Given the description of an element on the screen output the (x, y) to click on. 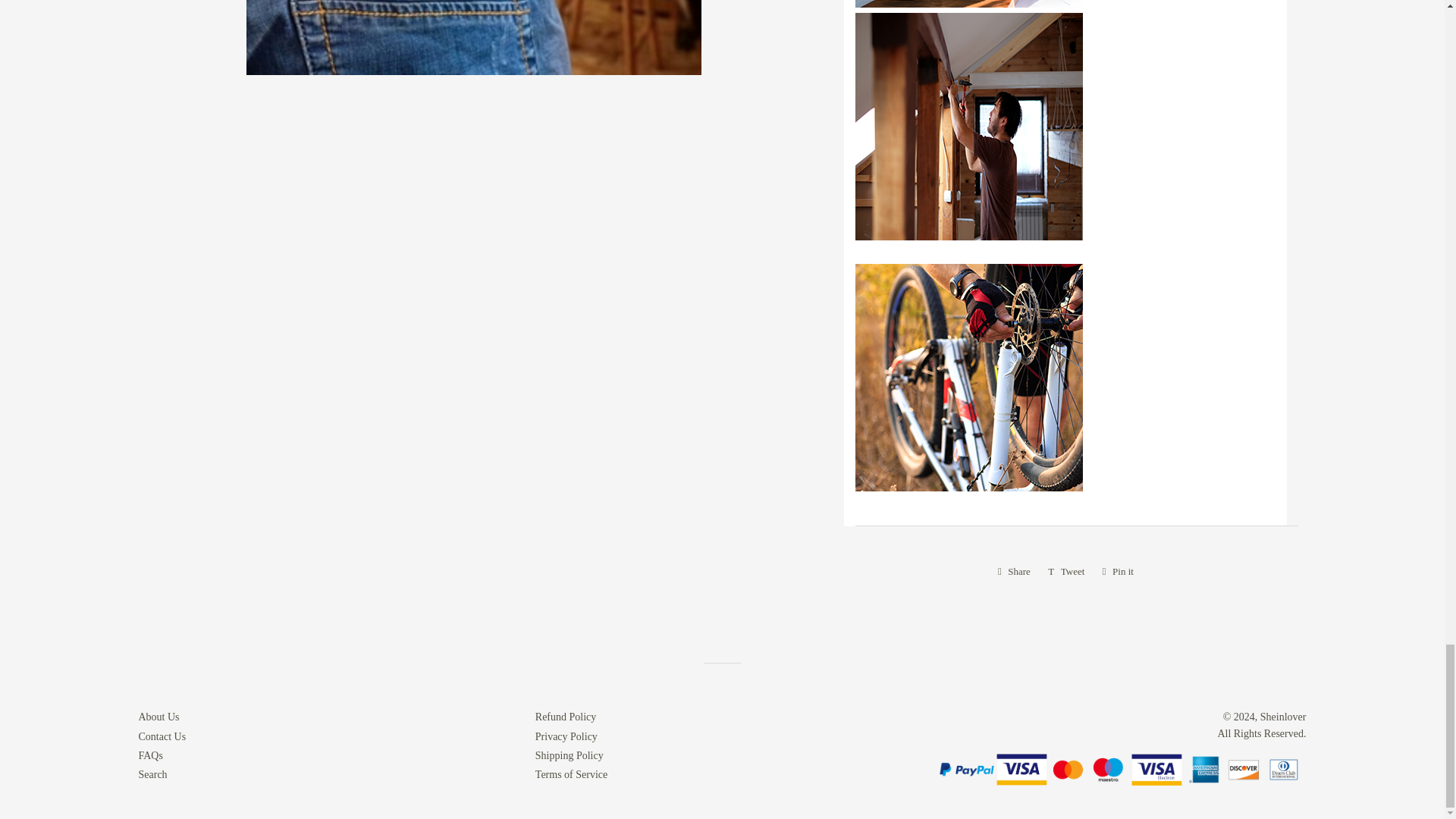
Tweet on Twitter (1066, 571)
Pin on Pinterest (1117, 571)
Share on Facebook (1014, 571)
